Given the description of an element on the screen output the (x, y) to click on. 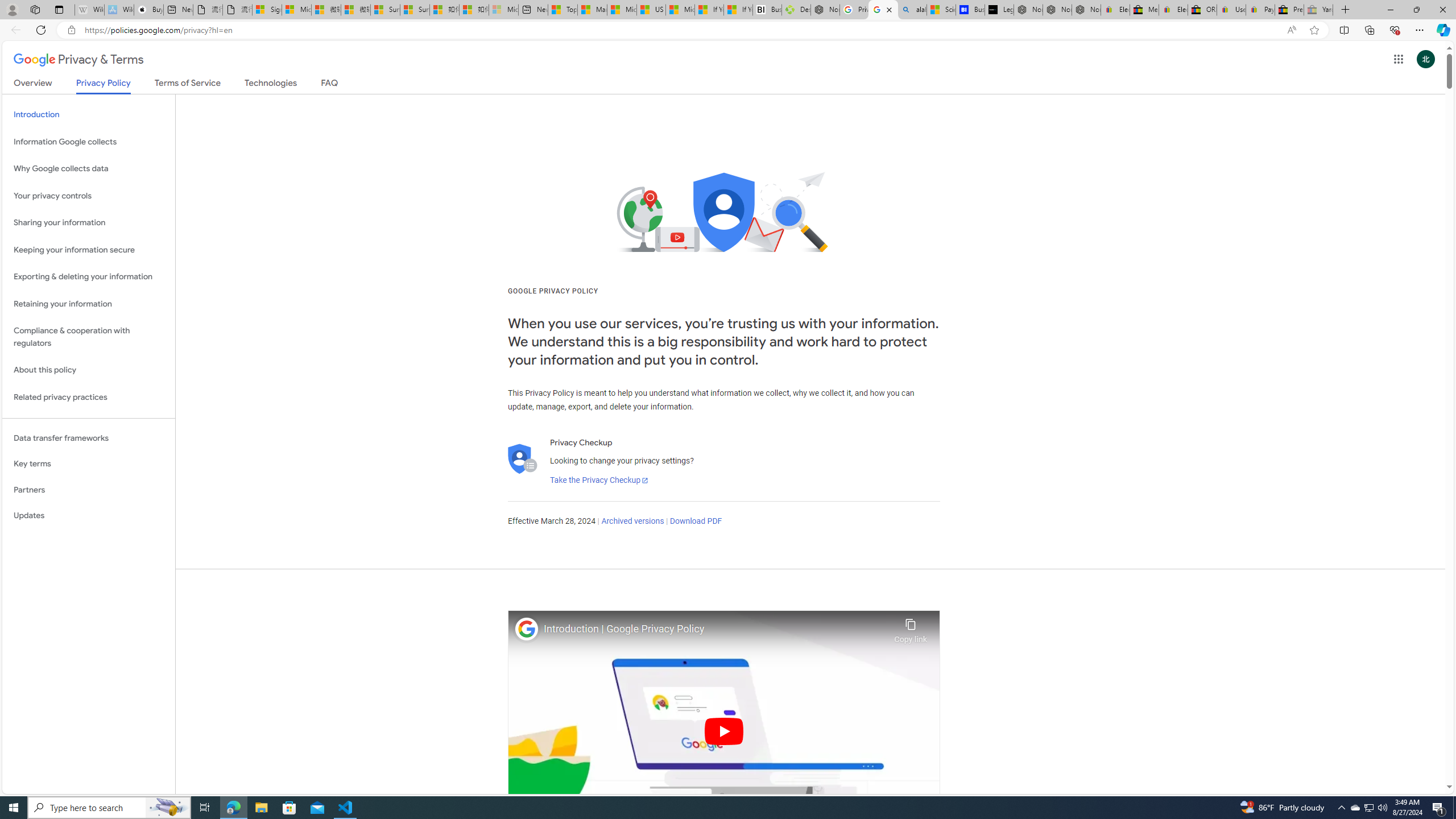
Download PDF (695, 521)
Key terms (88, 464)
Photo image of Google (526, 628)
Descarga Driver Updater (796, 9)
Introduction (88, 114)
Your privacy controls (88, 195)
